Given the description of an element on the screen output the (x, y) to click on. 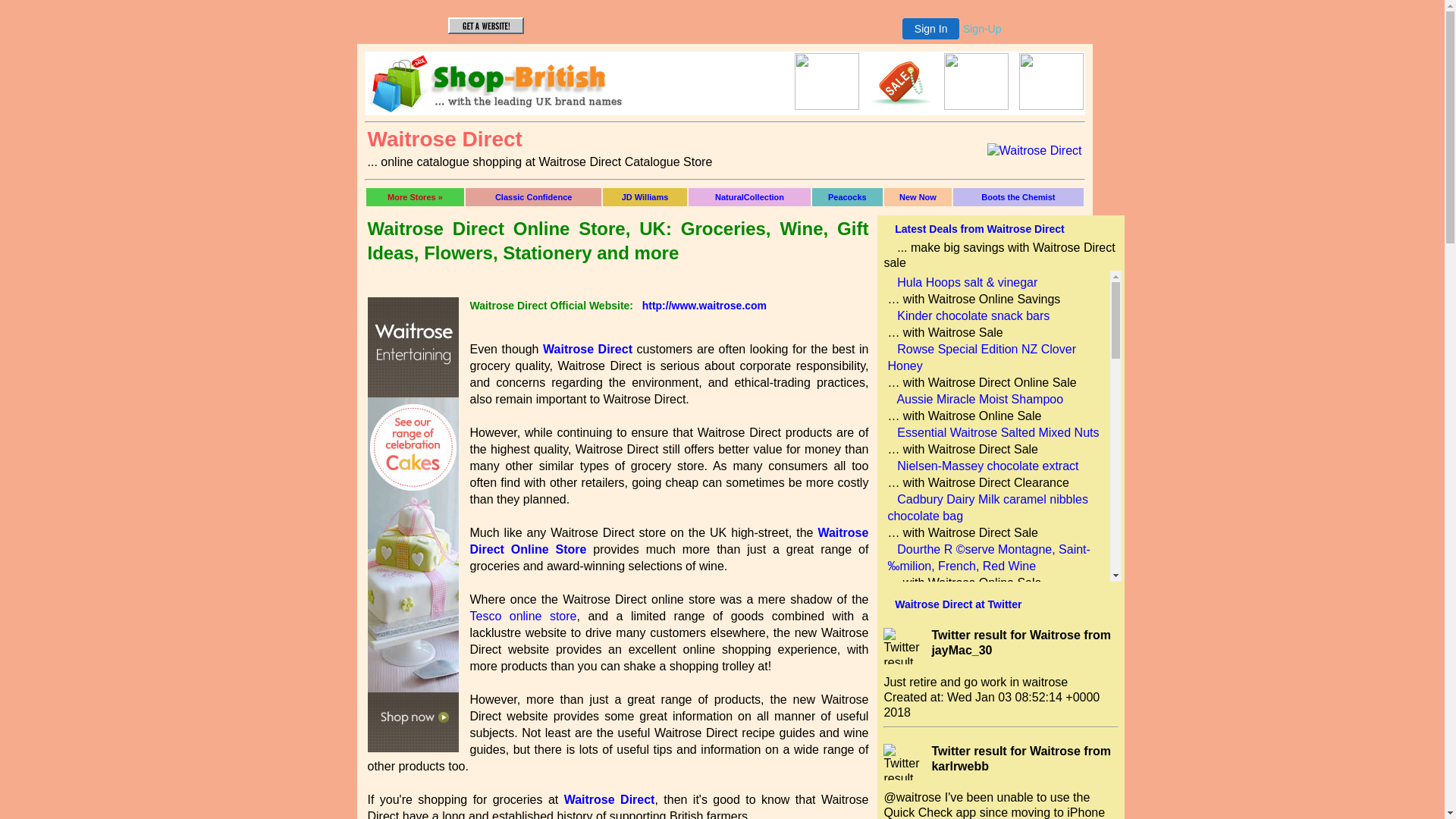
Nielsen-Massey chocolate extract Element type: text (987, 465)
Shop British Element type: hover (826, 105)
Naturya Chia seeds Element type: text (950, 715)
Waitrose Direct Element type: hover (1034, 150)
Rowse Special Edition NZ Clover Honey Element type: text (981, 357)
Aussie Miracle Moist Shampoo Element type: text (979, 398)
Classic Confidence Element type: text (533, 196)
Peacocks Element type: text (847, 196)
Waitrose Direct Direct Element type: hover (724, 83)
Waitrose Direct Online Store Element type: text (669, 540)
Essential Waitrose Salted Mixed Nuts Element type: text (997, 432)
Sign-Up Element type: text (982, 28)
JD Williams Element type: text (644, 196)
Tesco online store Element type: text (523, 615)
NaturalCollection Element type: text (749, 196)
Kinder chocolate snack bars Element type: text (973, 315)
Bounty Trail Mix Element type: text (940, 599)
Latest Deals from Waitrose Direct Element type: text (979, 228)
Cadbury Dairy Milk caramel nibbles chocolate bag Element type: text (987, 507)
Boots the Chemist Element type: text (1017, 196)
Waitrose Direct at Twitter Element type: text (957, 604)
Waitrose Direct Element type: text (587, 348)
Shop British Element type: hover (506, 107)
Waitrose 1 Free Range Roasted Turkey Breast Element type: text (978, 640)
New Now Element type: text (917, 196)
Waitrose Direct Element type: text (609, 799)
Persil Small & Mighty bio 25 wash laundry liquid Element type: text (983, 757)
Waitrose Direct Catalogue Element type: hover (1034, 150)
Waitrose LoveLife Soft Figs Element type: text (970, 682)
Hula Hoops salt & vinegar Element type: text (967, 282)
http://www.waitrose.com Element type: text (704, 305)
Sign In Element type: text (931, 28)
